Given the description of an element on the screen output the (x, y) to click on. 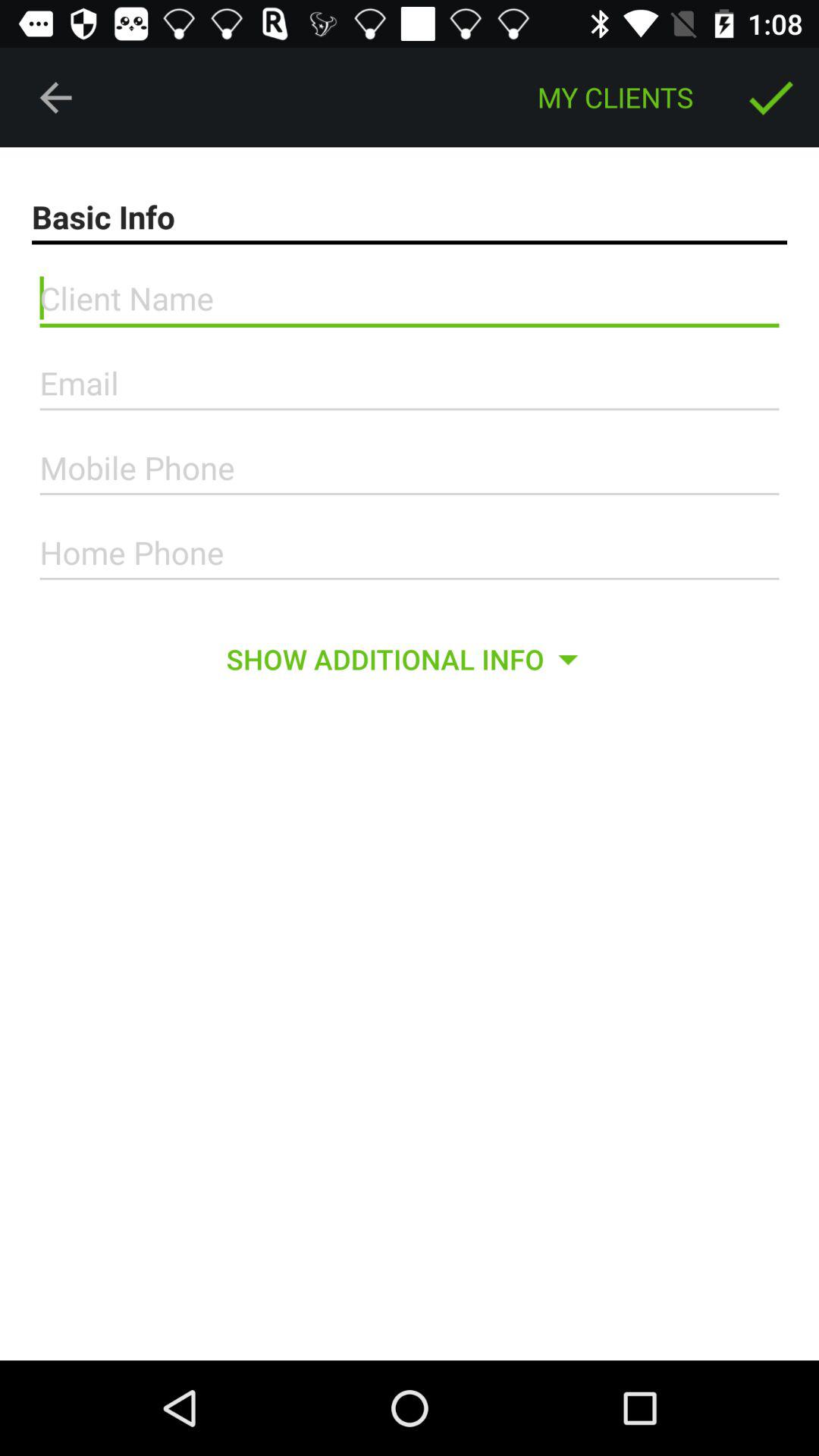
put the mobile phone (409, 467)
